Given the description of an element on the screen output the (x, y) to click on. 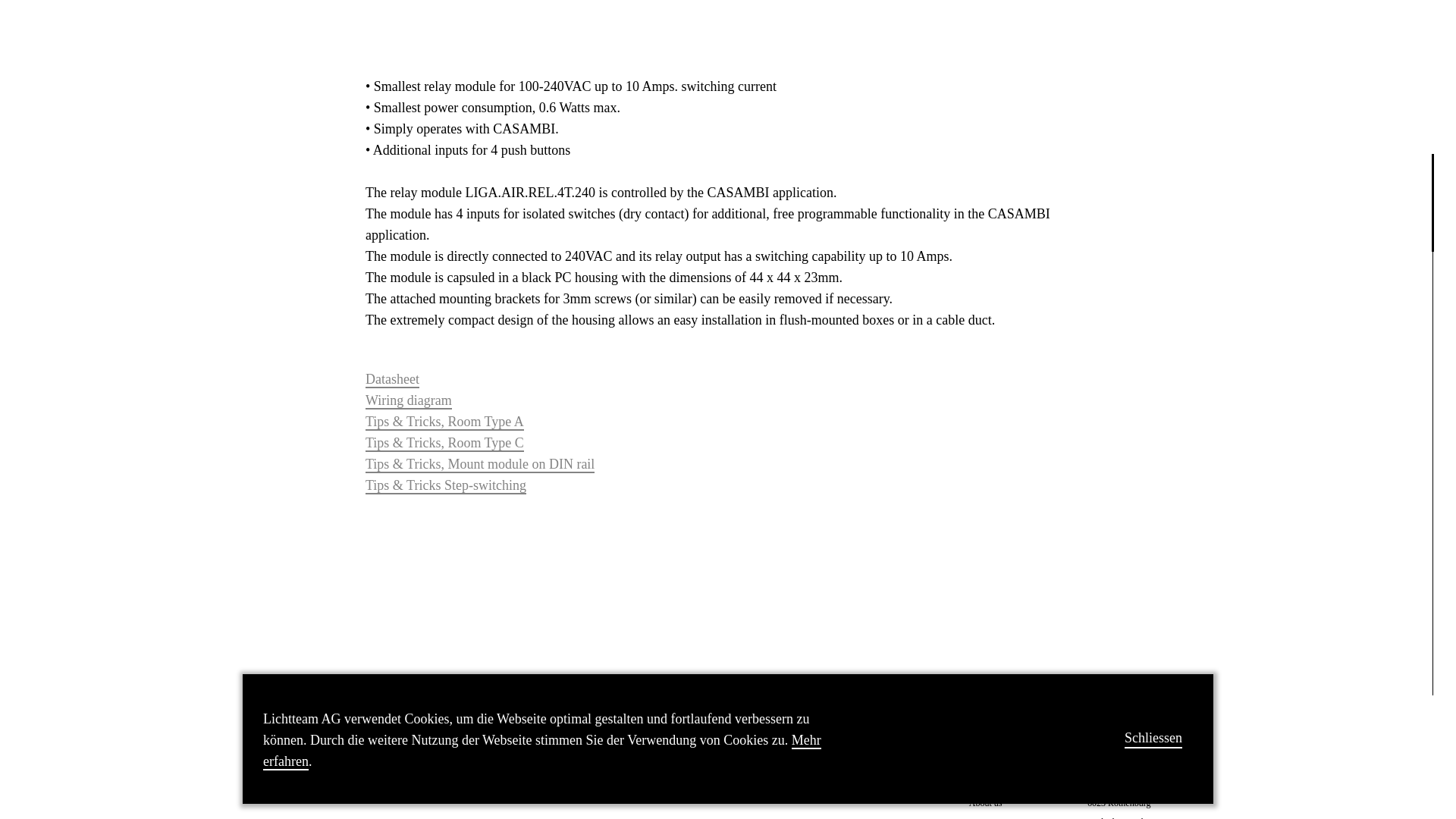
Schliessen (1153, 137)
Products (1005, 757)
Mehr erfahren (542, 151)
Datasheet (392, 379)
Wiring diagram (408, 401)
Downloads (1005, 780)
About us (1005, 802)
